Given the description of an element on the screen output the (x, y) to click on. 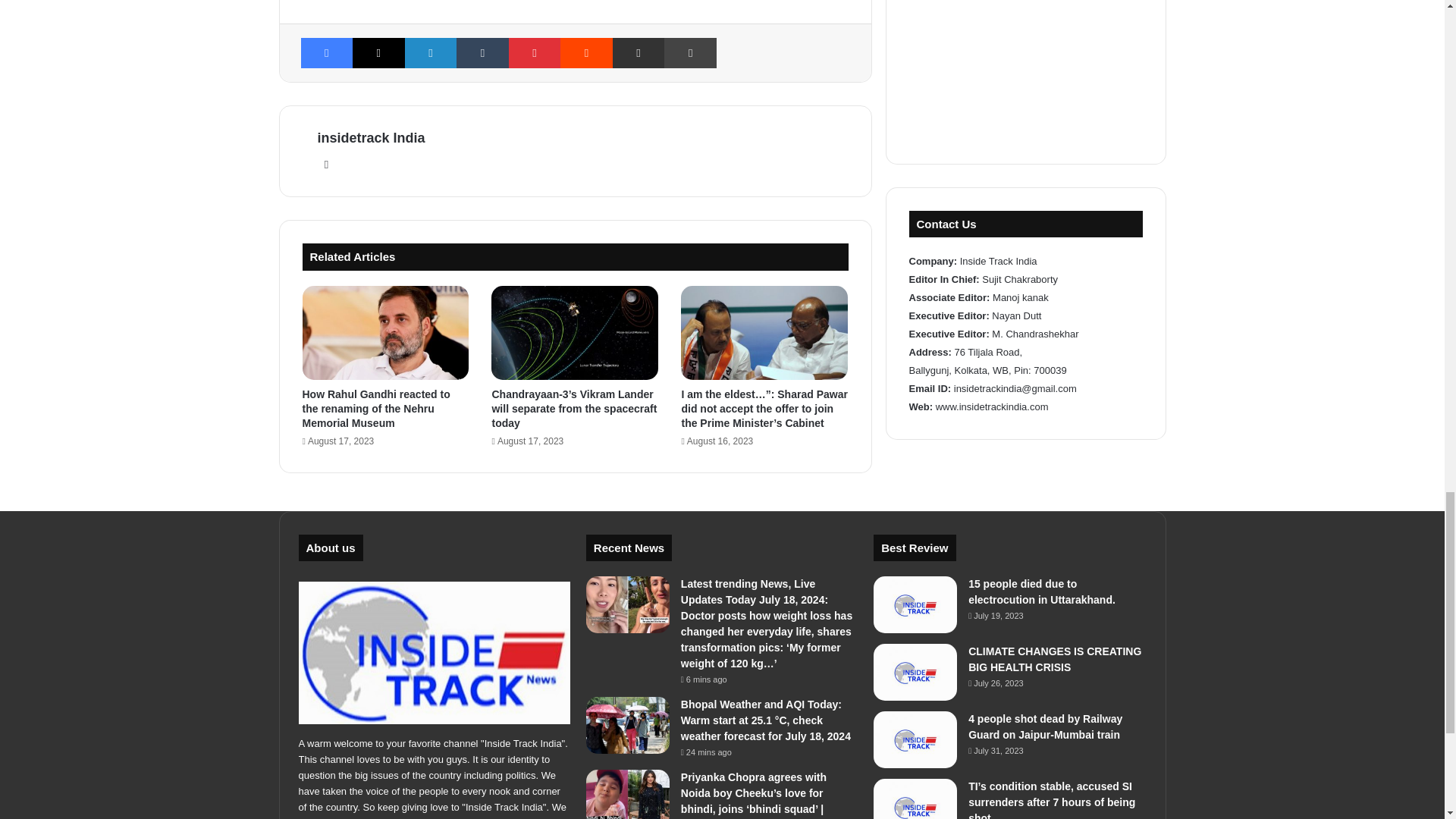
Reddit (586, 52)
Pinterest (534, 52)
Facebook (325, 52)
X (378, 52)
LinkedIn (430, 52)
Tumblr (482, 52)
